Given the description of an element on the screen output the (x, y) to click on. 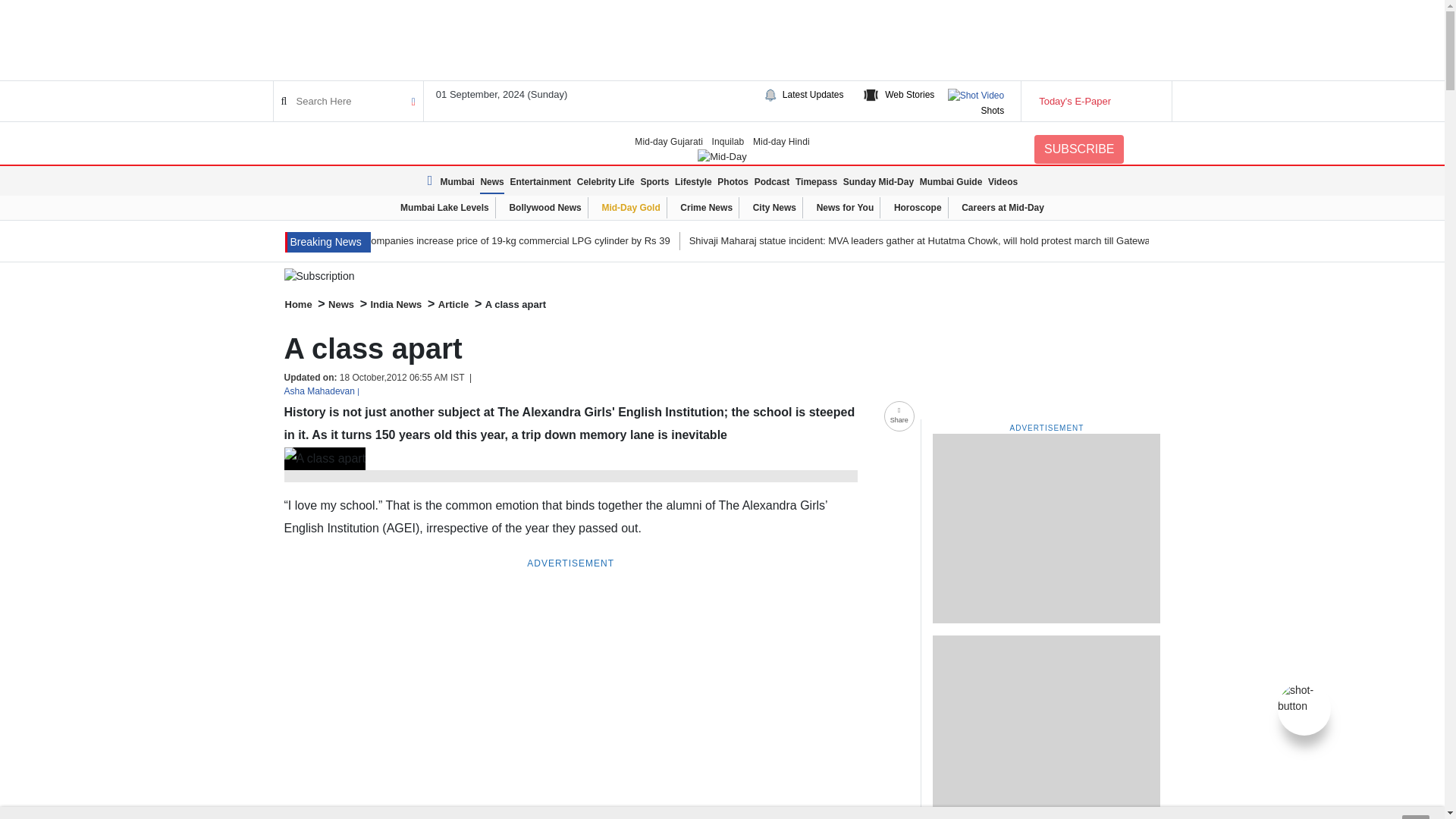
Midday Shot Videos (1304, 697)
A class apart (324, 458)
Shots (991, 110)
Today's E-Paper (1095, 101)
Web Stories (909, 94)
Mid-day Gujarati (668, 141)
Mid-day Hindi (780, 141)
Latest News (432, 180)
SUBSCRIBE (1078, 149)
Latest Updates (813, 94)
